Given the description of an element on the screen output the (x, y) to click on. 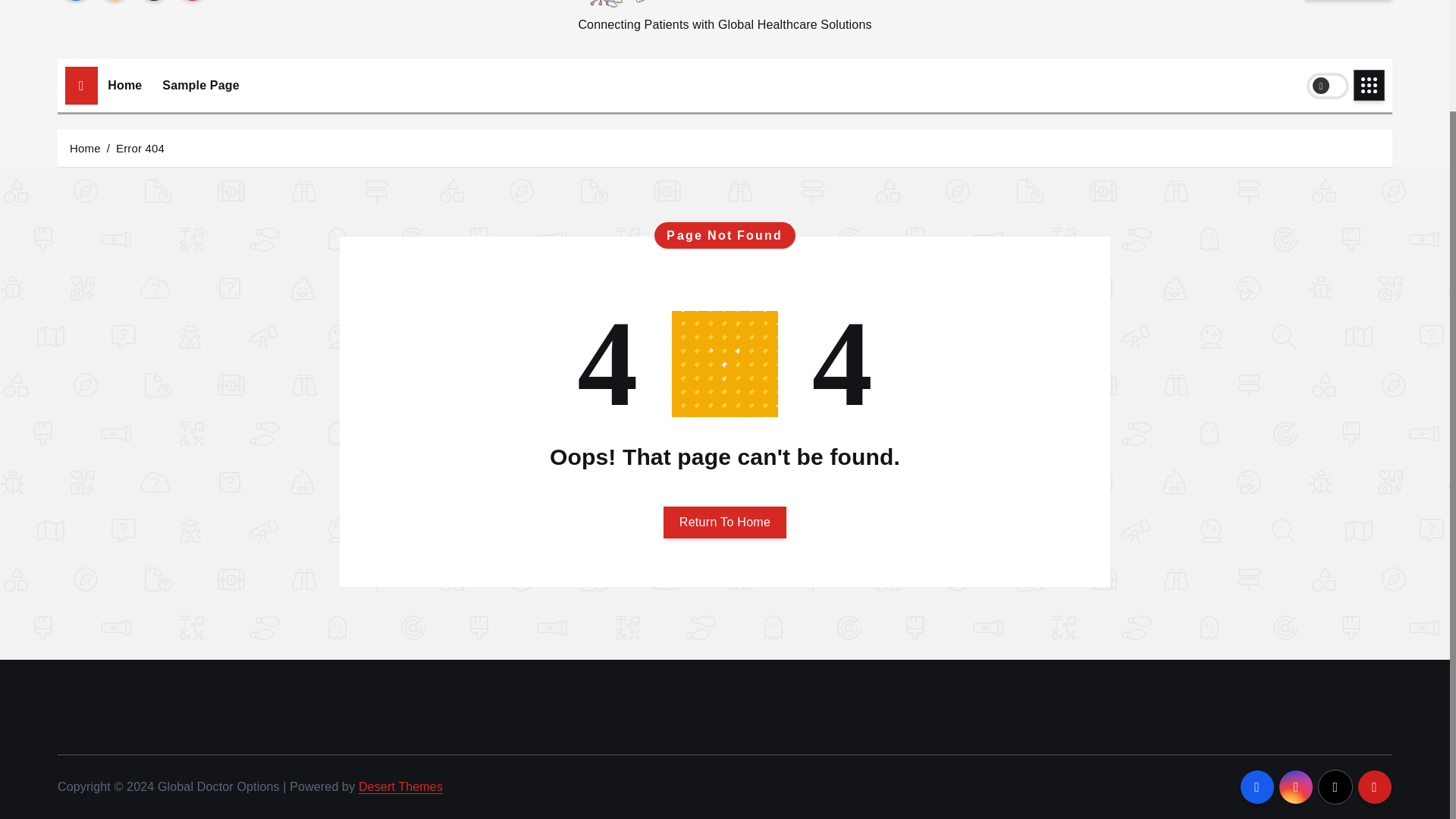
Home (124, 85)
Sample Page (200, 85)
Home (84, 147)
Home (124, 85)
Desert Themes (400, 786)
Error 404 (140, 147)
Return To Home (724, 522)
